Given the description of an element on the screen output the (x, y) to click on. 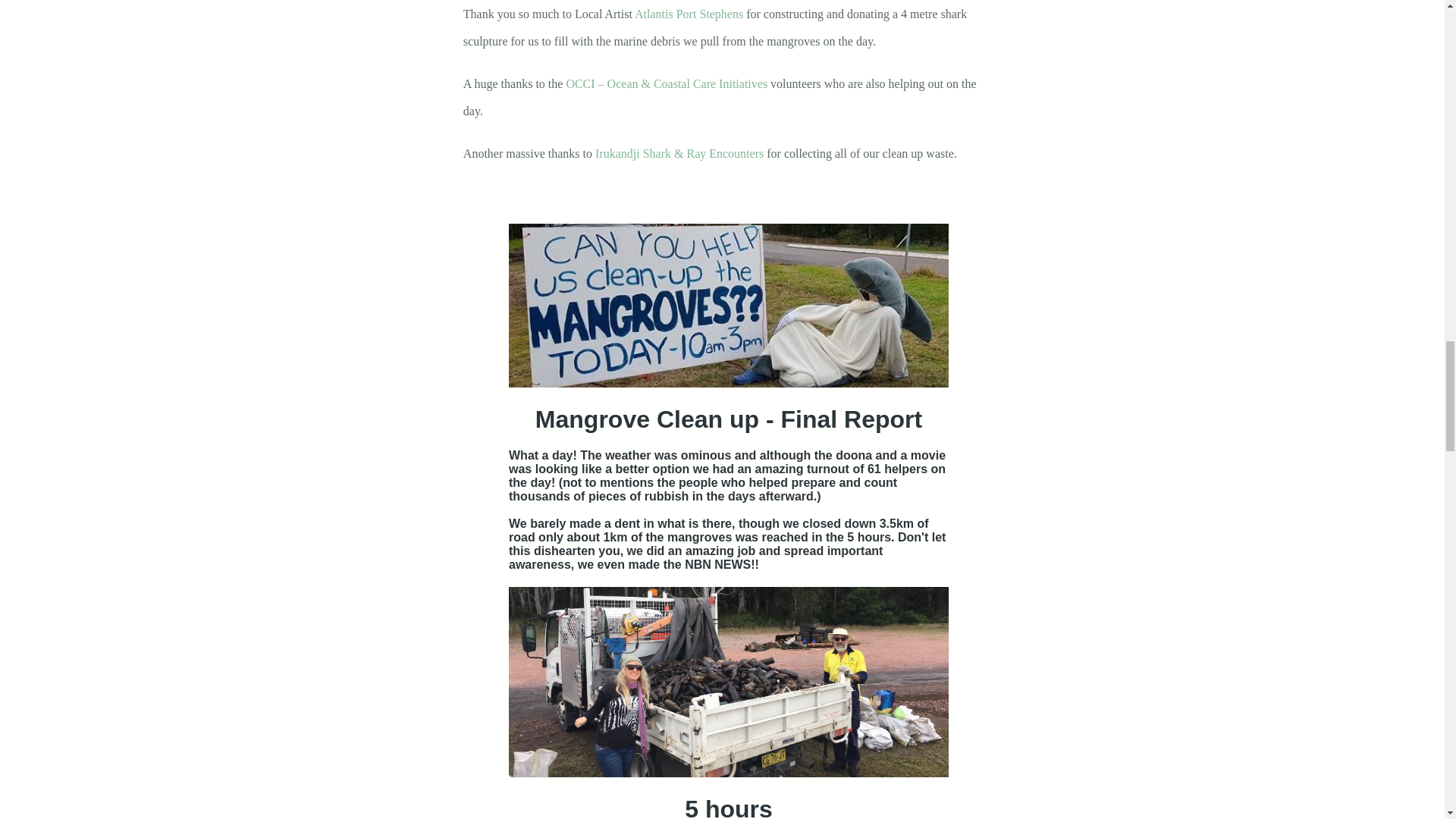
Atlantis Port Stephens (688, 13)
